Given the description of an element on the screen output the (x, y) to click on. 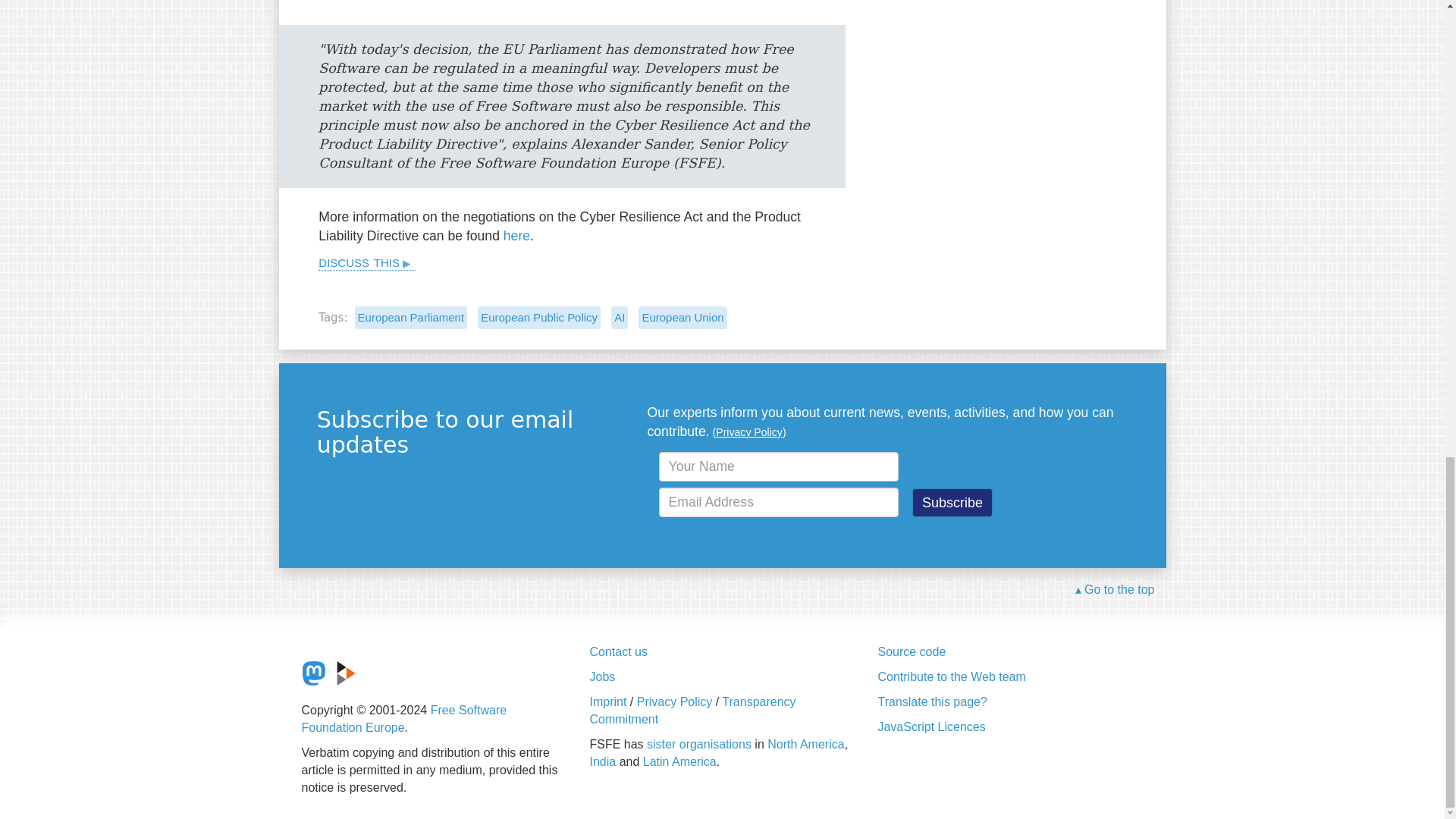
European Public Policy (538, 317)
Subscribe (952, 502)
European Parliament (411, 317)
Peertube (345, 672)
Subscribe (952, 502)
here (516, 235)
Mastodon (313, 672)
discuss this (366, 261)
European Union (682, 317)
Privacy Policy (749, 431)
